Given the description of an element on the screen output the (x, y) to click on. 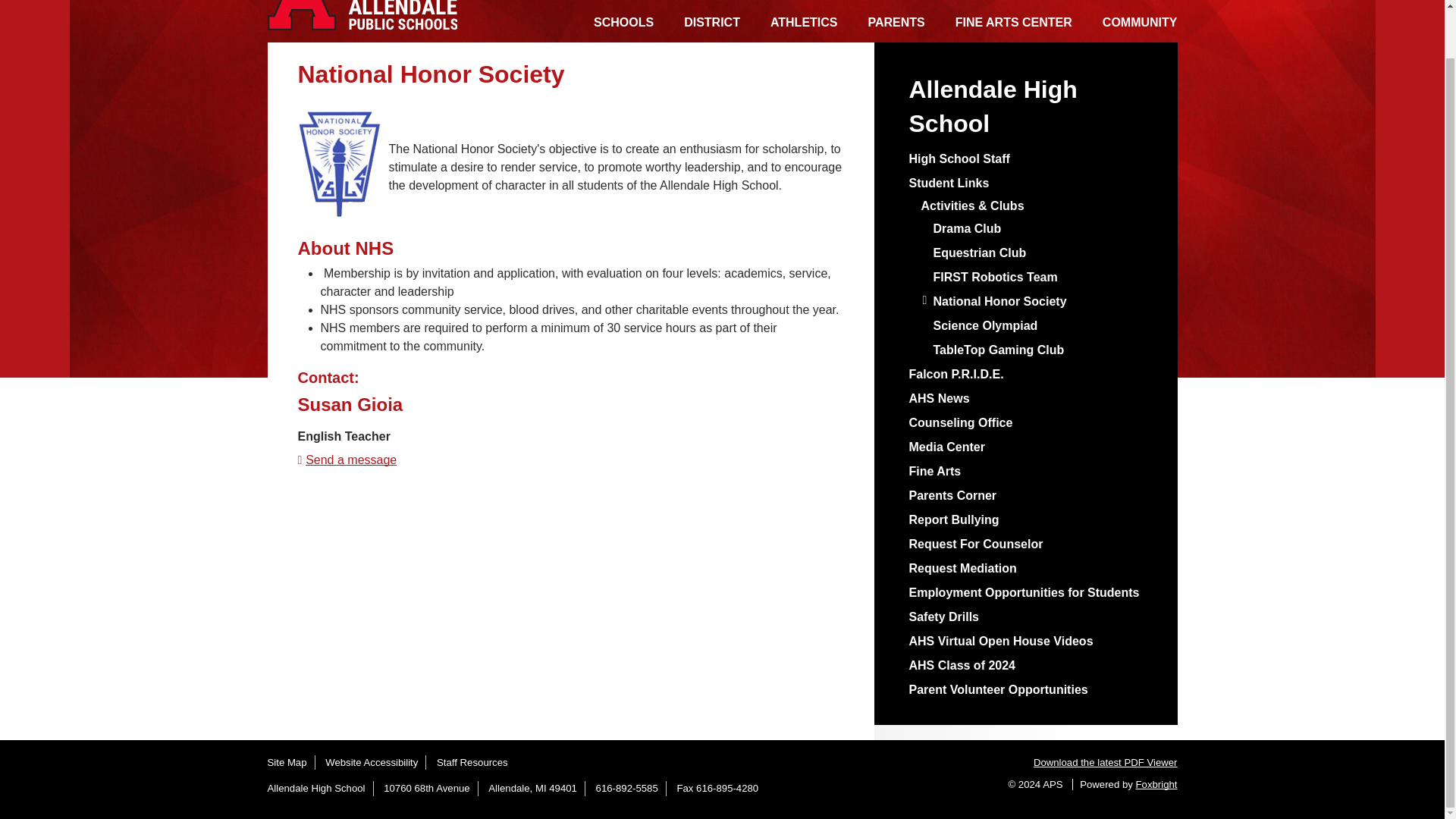
DISTRICT (711, 20)
SCHOOLS (623, 20)
